Given the description of an element on the screen output the (x, y) to click on. 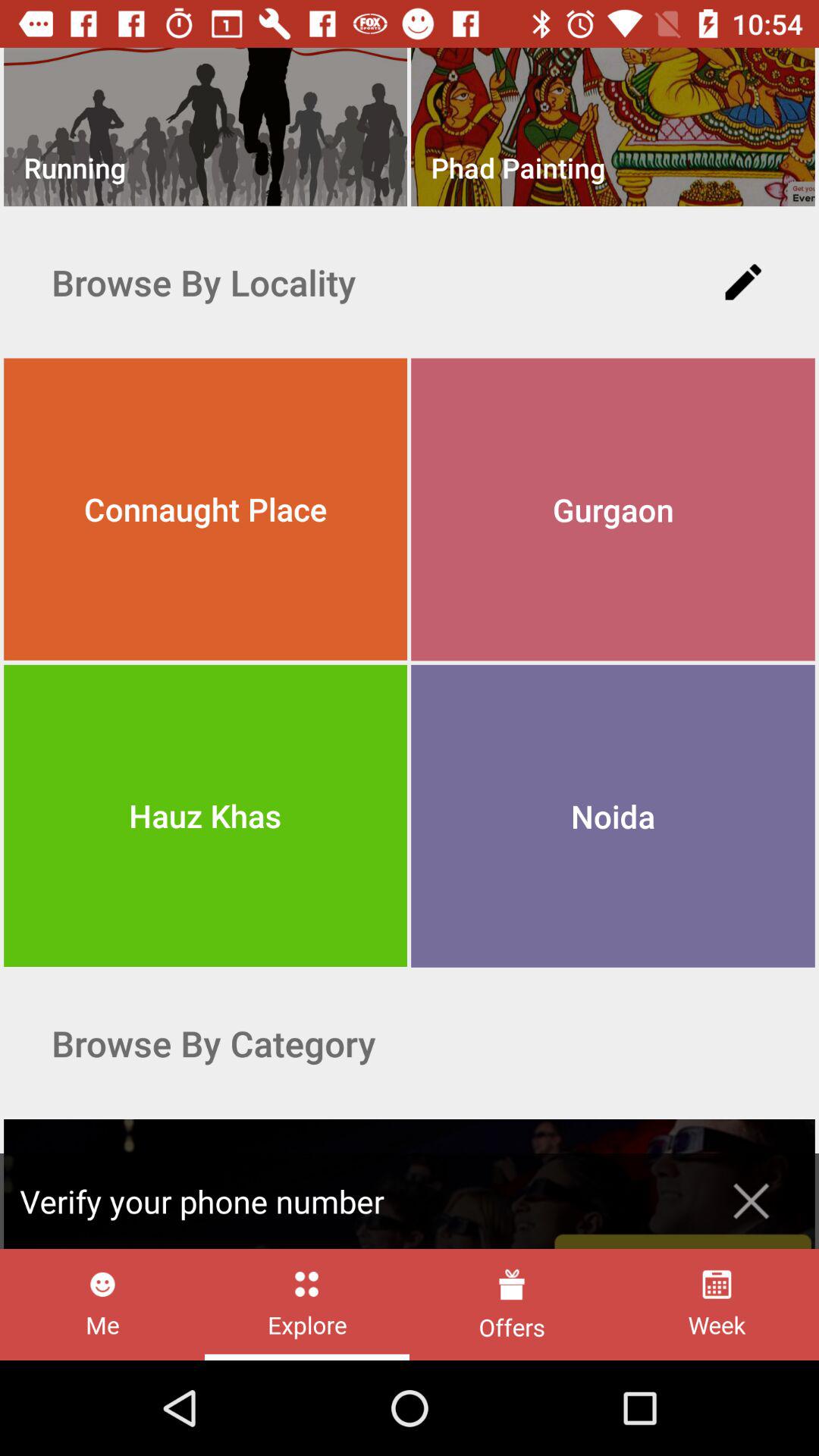
choose the week item (716, 1304)
